Given the description of an element on the screen output the (x, y) to click on. 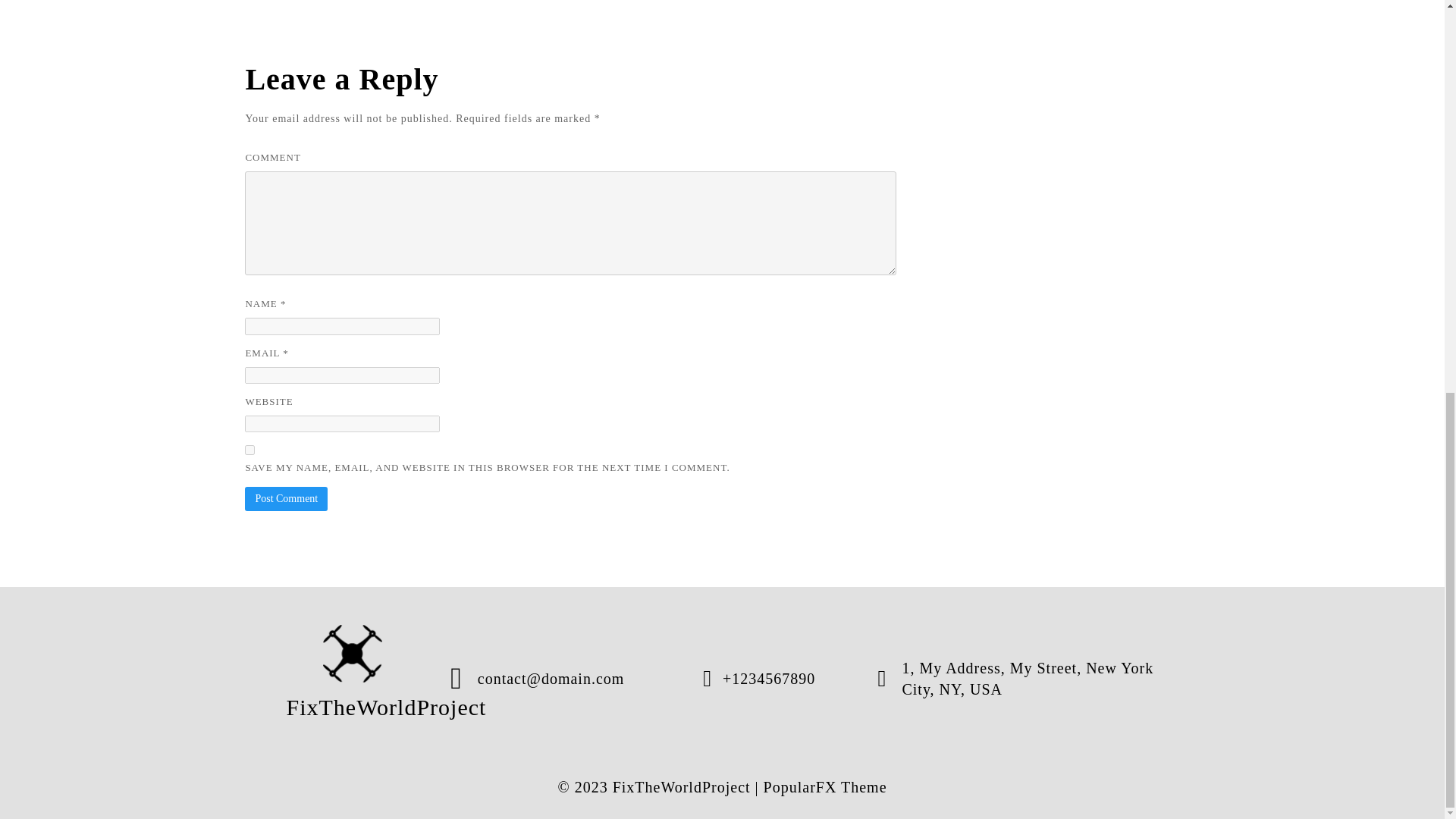
PopularFX Theme (824, 786)
Post Comment (285, 498)
Post Comment (285, 498)
FixTheWorldProject (352, 678)
logo (352, 653)
yes (249, 450)
